Given the description of an element on the screen output the (x, y) to click on. 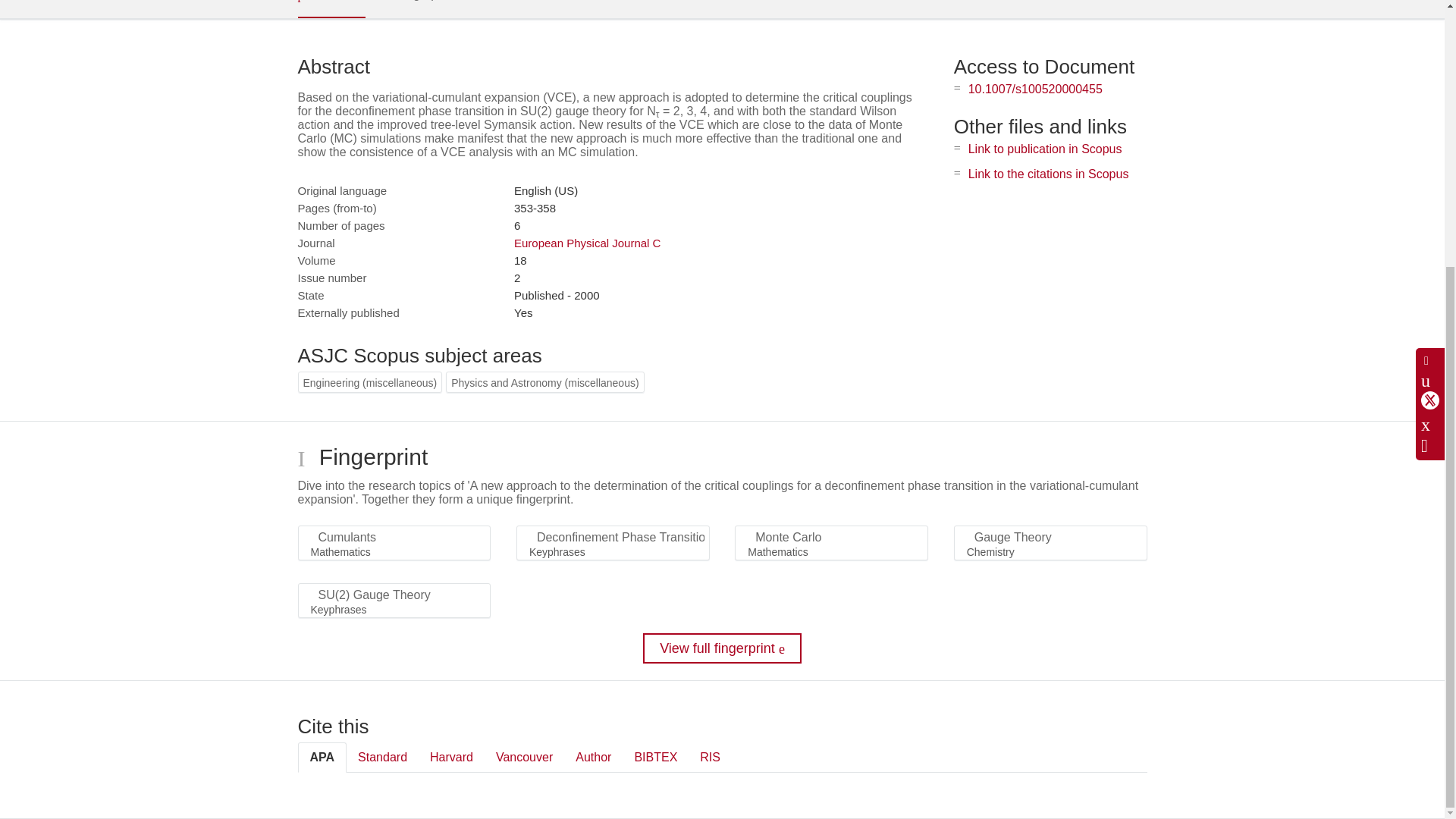
Overview (331, 9)
View full fingerprint (722, 648)
Fingerprint (419, 8)
Link to the citations in Scopus (1048, 173)
European Physical Journal C (587, 242)
Link to publication in Scopus (1045, 148)
